Given the description of an element on the screen output the (x, y) to click on. 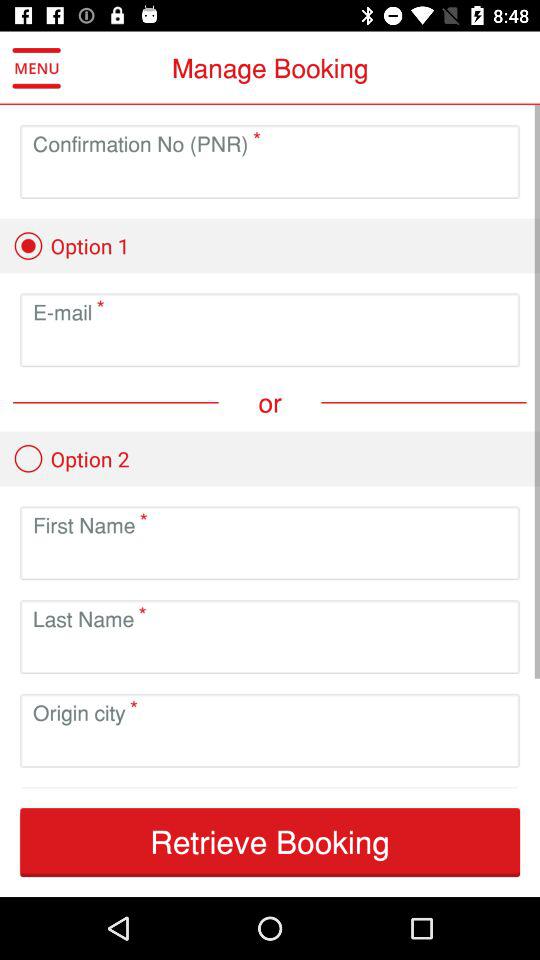
click the item above the confirmation no (pnr) icon (36, 68)
